Given the description of an element on the screen output the (x, y) to click on. 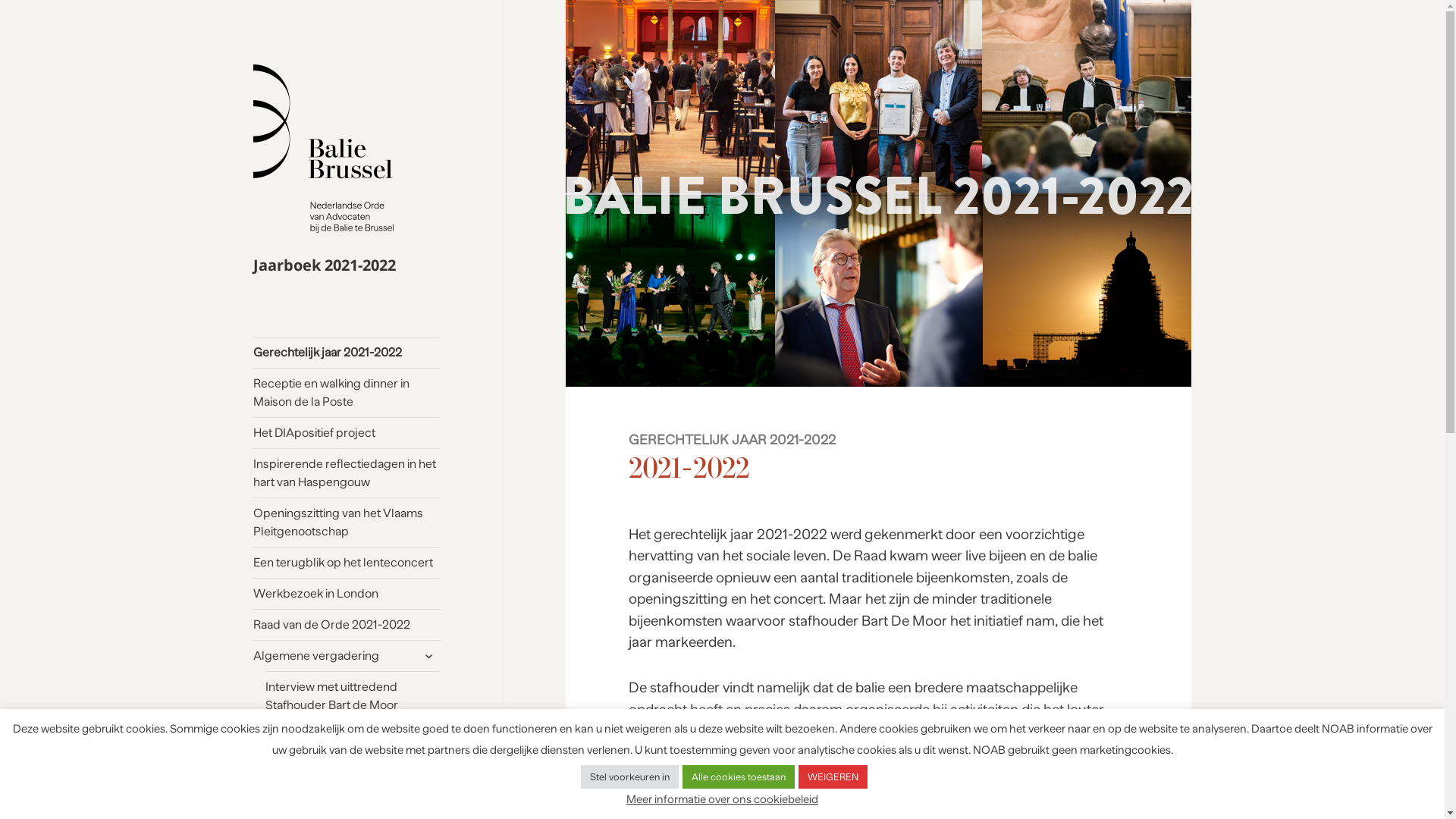
Jaarboek 2021-2022 Element type: text (324, 264)
concert Element type: text (797, 598)
Een terugblik op het lenteconcert Element type: text (347, 562)
Openingszitting van het Vlaams Pleitgenootschap Element type: text (347, 522)
Meer informatie over ons cookiebeleid Element type: text (722, 797)
Raad van de Orde 2021-2022 Element type: text (347, 624)
Stel voorkeuren in Element type: text (629, 775)
expand child menu Element type: text (428, 655)
Verkiezingen Element type: text (353, 736)
Algemene vergadering Element type: text (347, 655)
Interview met uittredend Stafhouder Bart de Moor Element type: text (353, 695)
Portret van verkozen Stafhouder Bernard Derveaux Element type: text (353, 776)
Werkbezoek in London Element type: text (347, 593)
Alle cookies toestaan Element type: text (738, 775)
Gerechtelijk jaar 2021-2022 Element type: text (347, 352)
Inspirerende reflectiedagen in het hart van Haspengouw Element type: text (347, 472)
openingszitting Element type: text (678, 598)
Het DIApositief project Element type: text (347, 432)
WEIGEREN Element type: text (832, 775)
Receptie en walking dinner in Maison de la Poste Element type: text (347, 392)
